Given the description of an element on the screen output the (x, y) to click on. 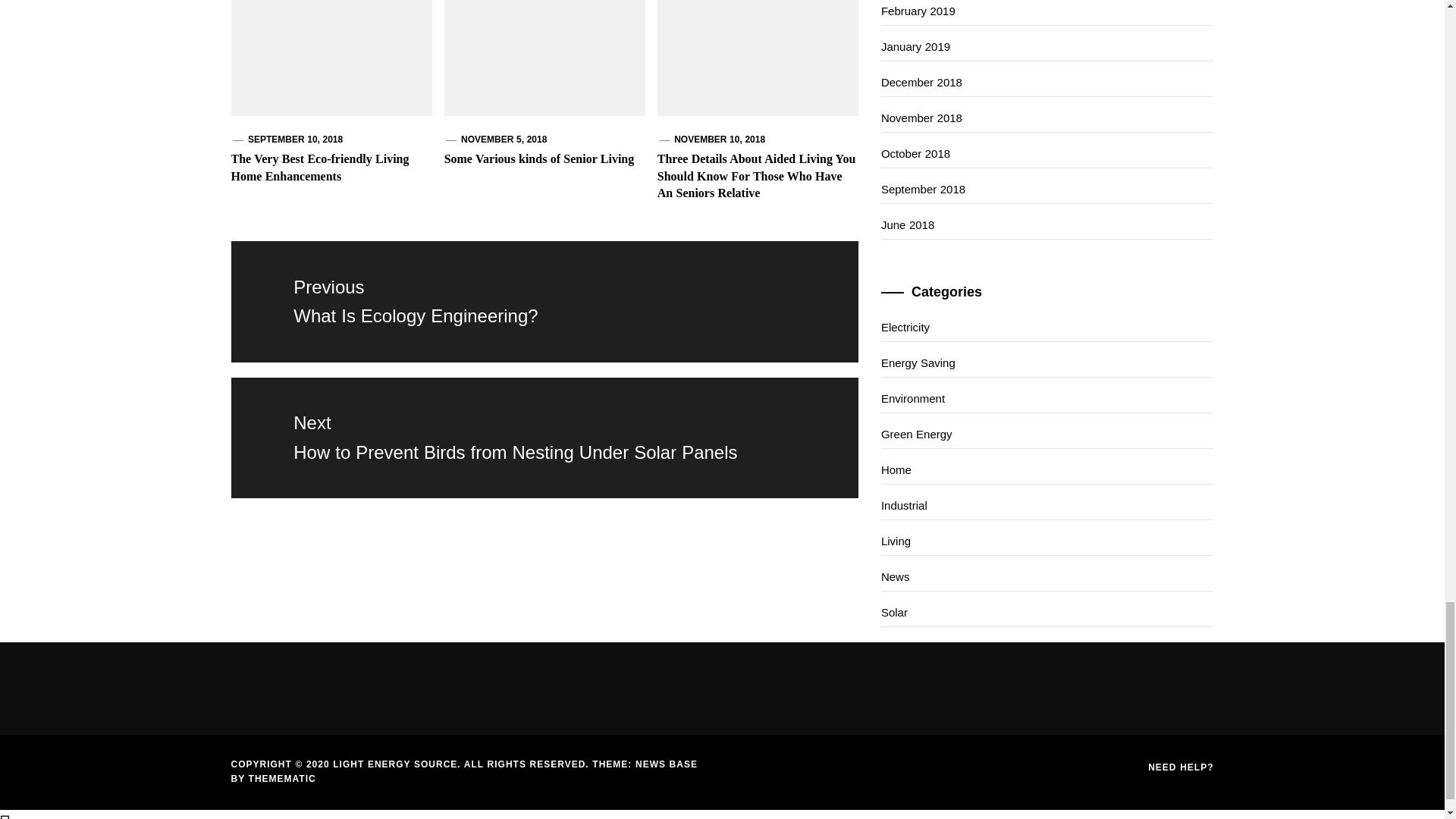
NOVEMBER 10, 2018 (543, 301)
SEPTEMBER 10, 2018 (719, 139)
Some Various kinds of Senior Living (294, 139)
NOVEMBER 5, 2018 (539, 158)
The Very Best Eco-friendly Living Home Enhancements (504, 139)
